Given the description of an element on the screen output the (x, y) to click on. 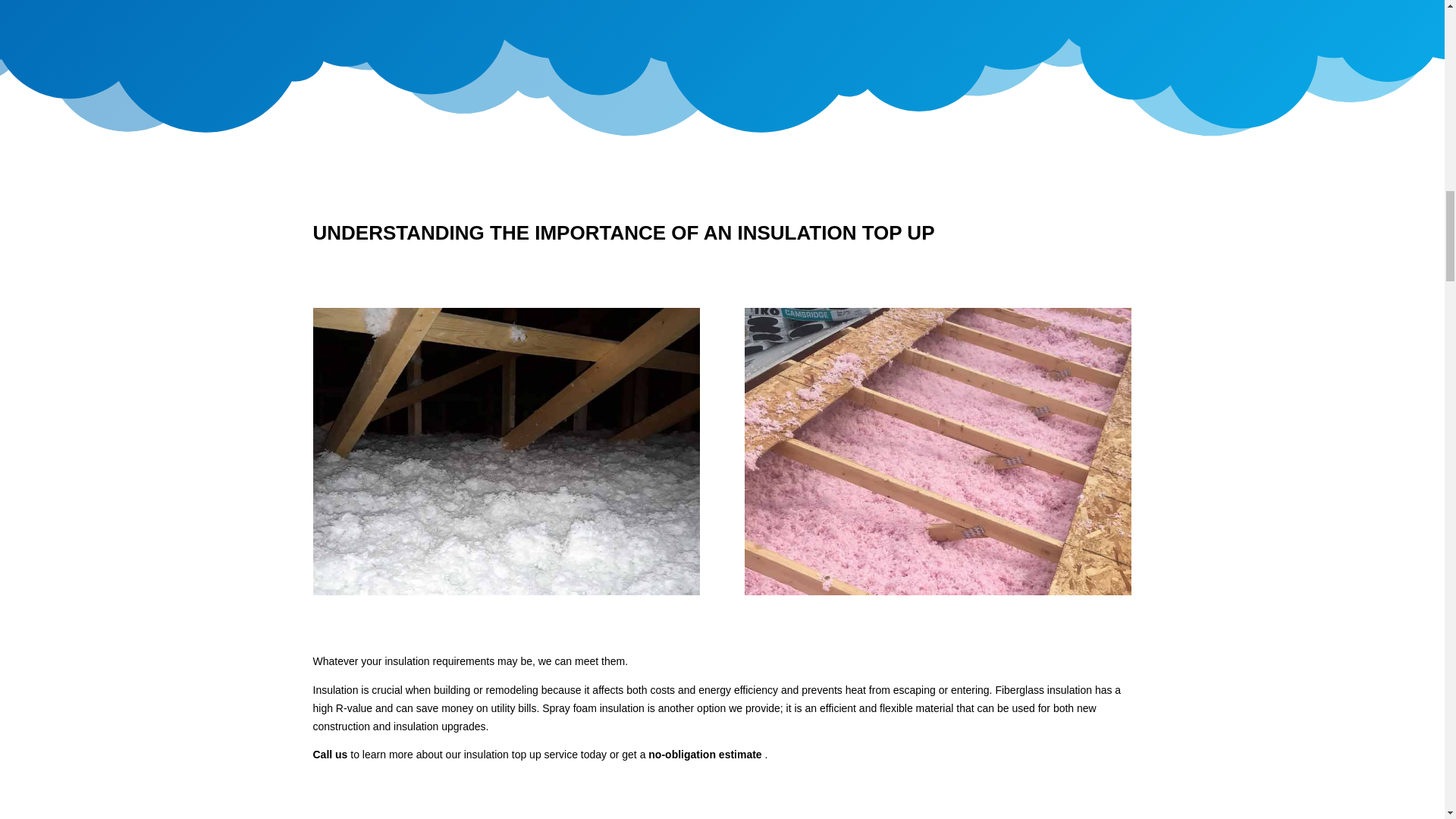
blown-in-insulation-top-up (505, 451)
top-up-roof-insulation (937, 451)
